Given the description of an element on the screen output the (x, y) to click on. 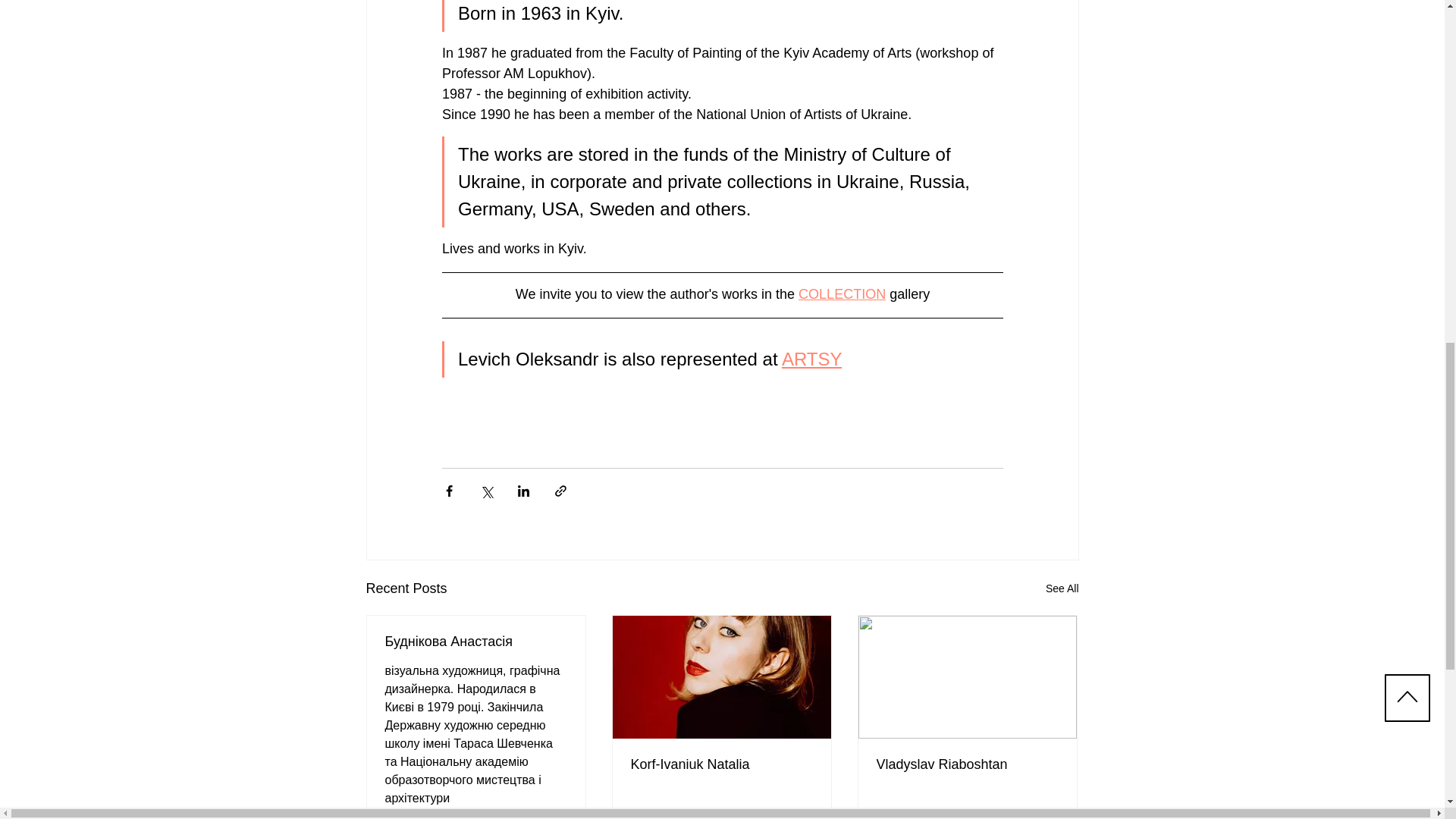
COLLECTION (841, 294)
Vladyslav Riaboshtan (967, 764)
Korf-Ivaniuk Natalia (721, 764)
ARTSY (810, 358)
See All (1061, 588)
